Given the description of an element on the screen output the (x, y) to click on. 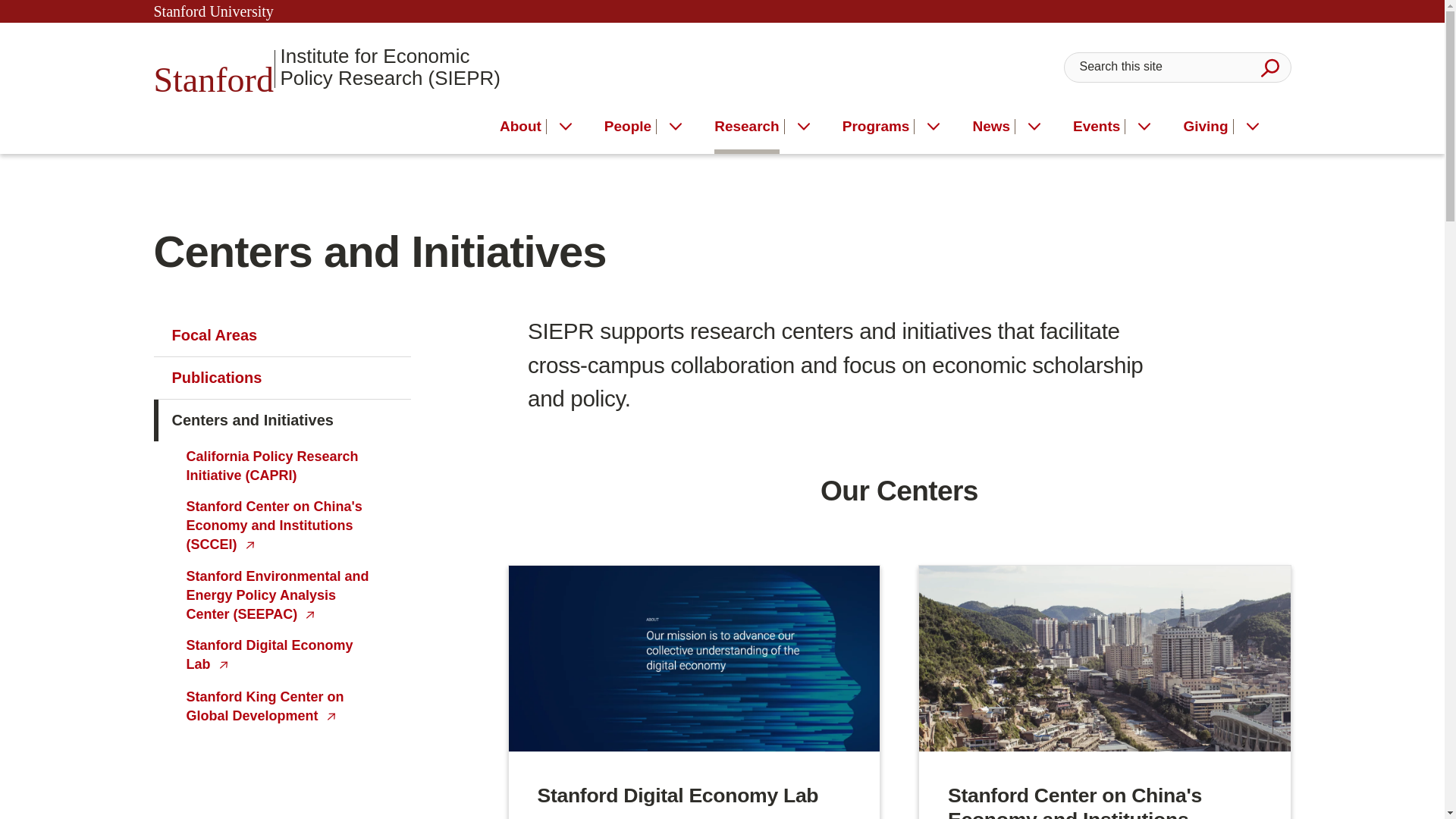
Submit Search (1269, 67)
People (627, 128)
